Given the description of an element on the screen output the (x, y) to click on. 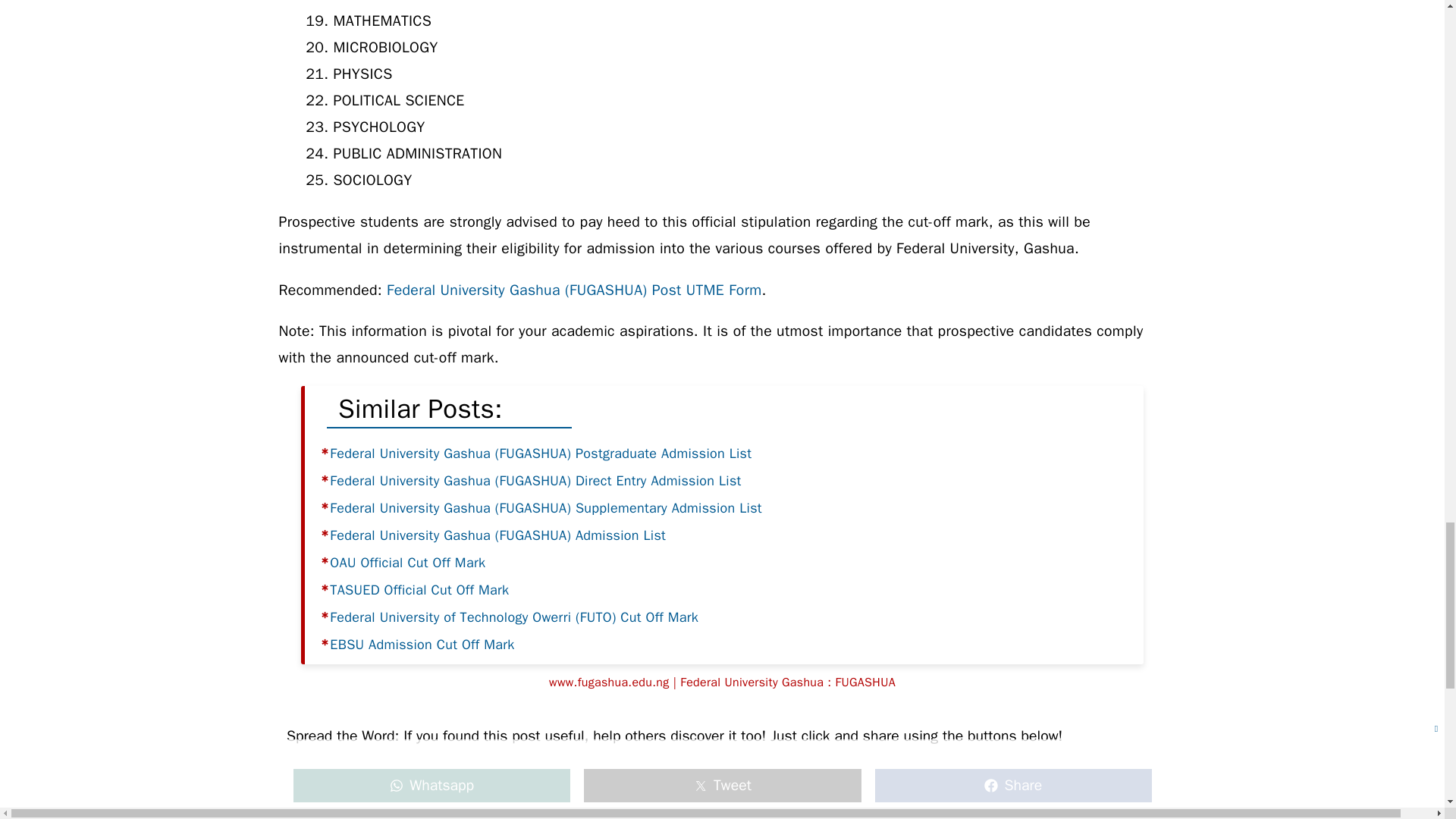
OAU Official Cut Off Mark (407, 562)
TASUED Official Cut Off Mark (419, 589)
Disclaimer (717, 784)
EBSU Admission Cut Off Mark (421, 644)
Tweet (722, 785)
Repost this on X! (722, 785)
About (654, 784)
Whatsapp (431, 785)
Privacy Policy (804, 783)
Share on Facebook! (1012, 785)
Share (1012, 785)
Home (604, 784)
